Given the description of an element on the screen output the (x, y) to click on. 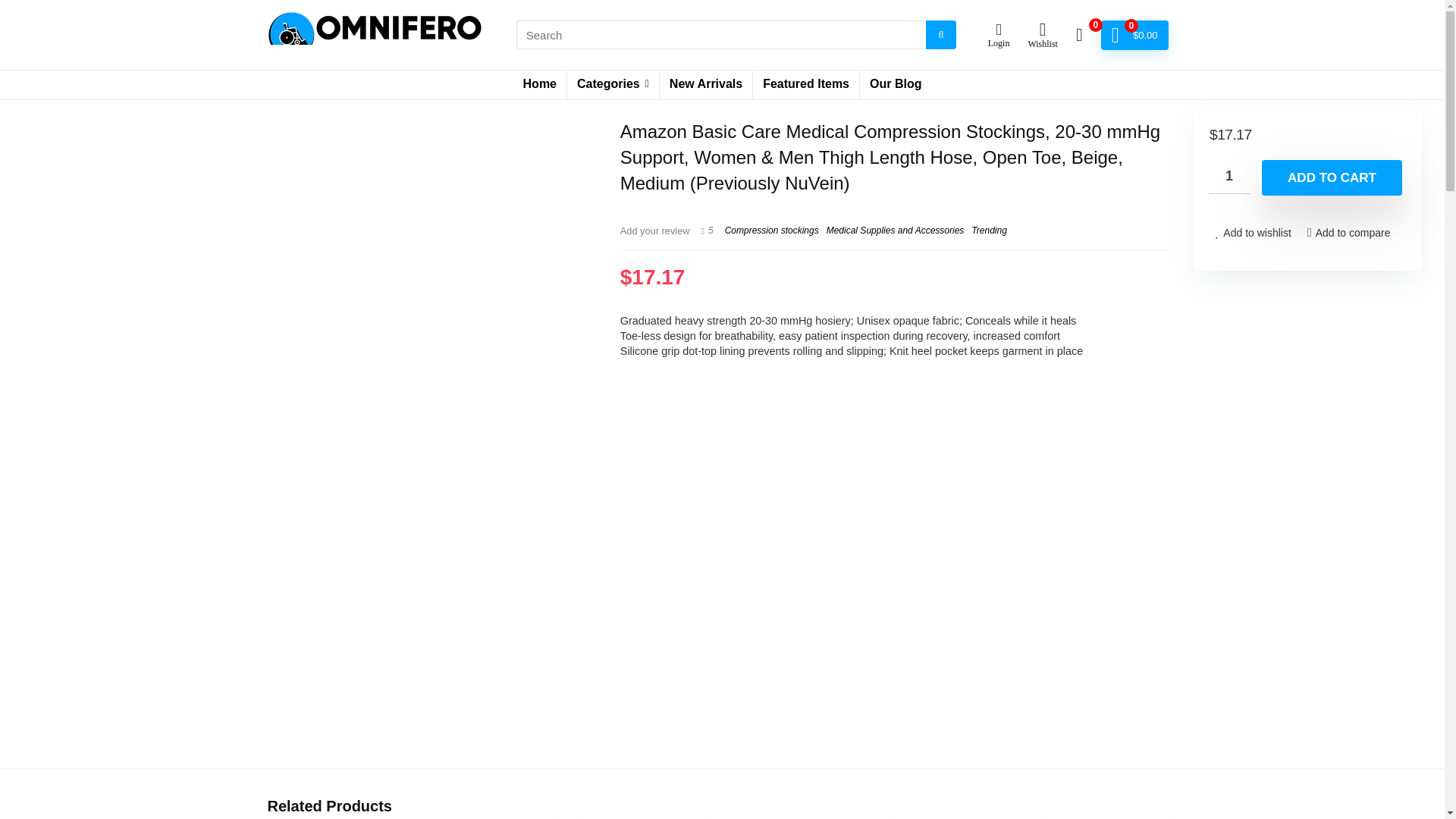
Categories (613, 84)
Home (539, 84)
Add your review (655, 230)
View all posts in Trending (988, 230)
View all posts in Compression stockings (771, 230)
View all posts in Medical Supplies and Accessories (895, 230)
1 (1229, 176)
